Given the description of an element on the screen output the (x, y) to click on. 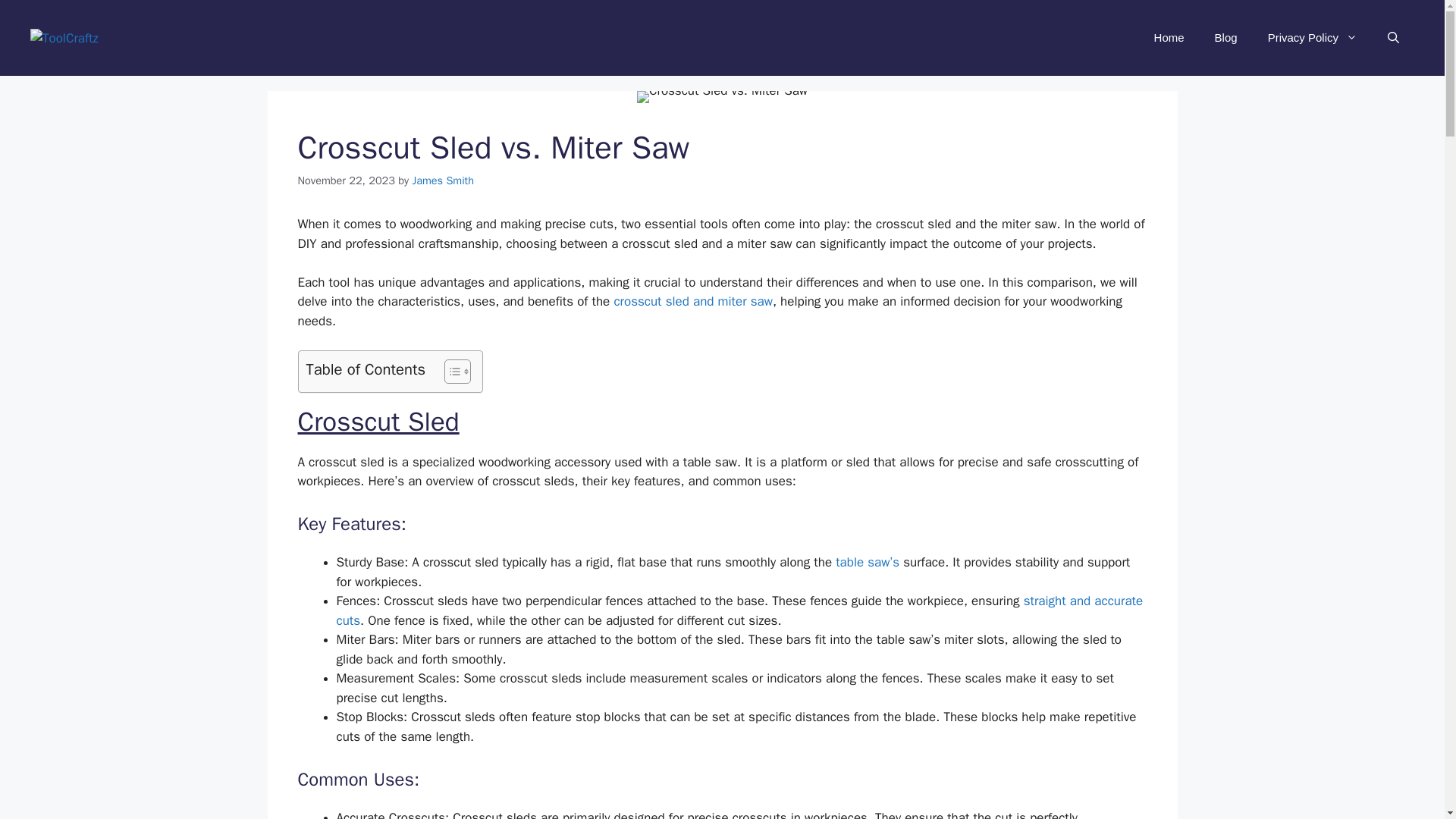
Blog (1225, 37)
straight and accurate cuts (739, 610)
View all posts by James Smith (443, 180)
Home (1168, 37)
crosscut sled and miter saw (691, 301)
Privacy Policy (1312, 37)
James Smith (443, 180)
